Given the description of an element on the screen output the (x, y) to click on. 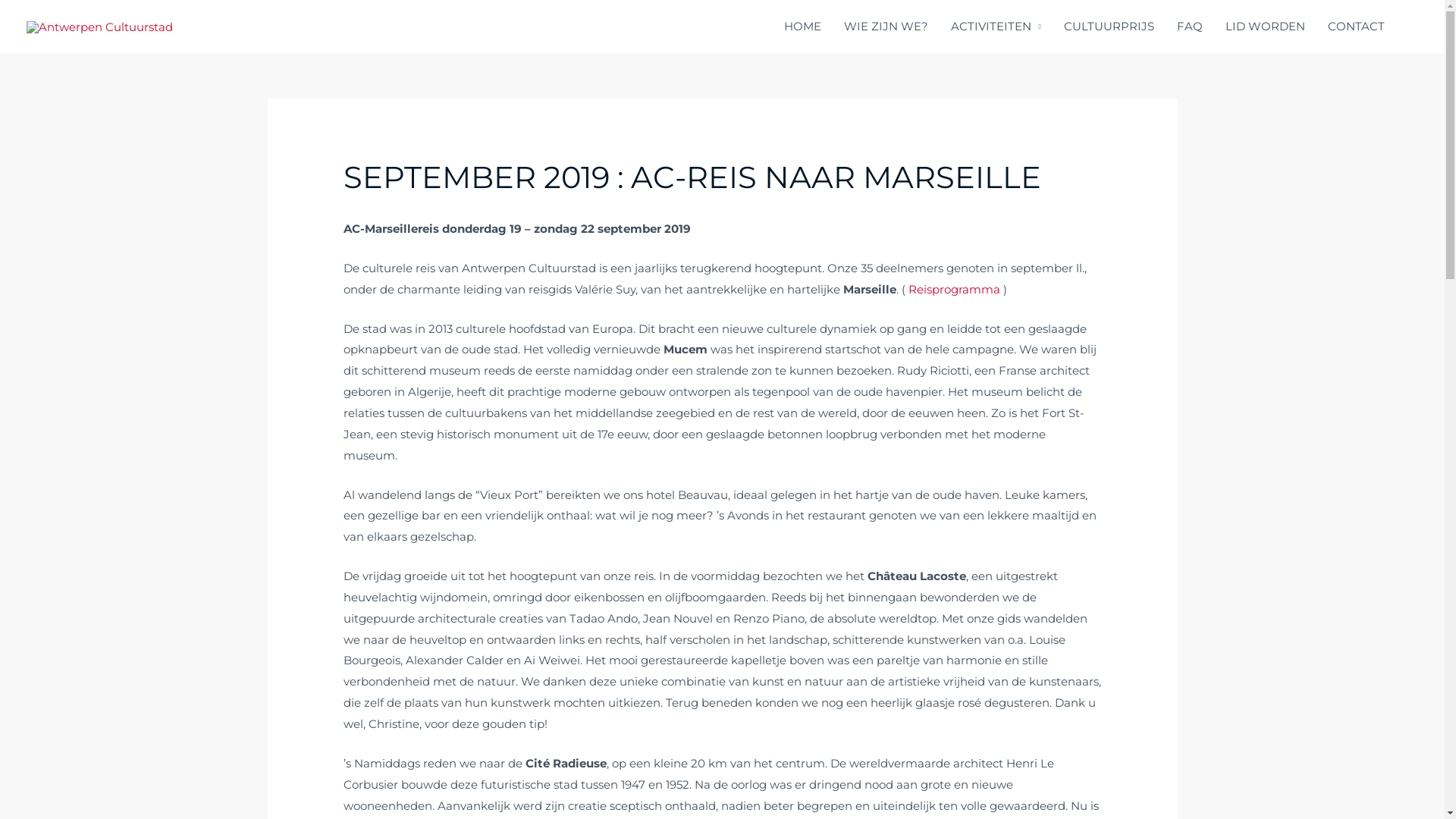
CONTACT Element type: text (1356, 26)
FAQ Element type: text (1189, 26)
ACTIVITEITEN Element type: text (995, 26)
Reisprogramma Element type: text (954, 289)
Zoeken Element type: text (1414, 26)
LID WORDEN Element type: text (1265, 26)
HOME Element type: text (802, 26)
CULTUURPRIJS Element type: text (1108, 26)
WIE ZIJN WE? Element type: text (885, 26)
